Given the description of an element on the screen output the (x, y) to click on. 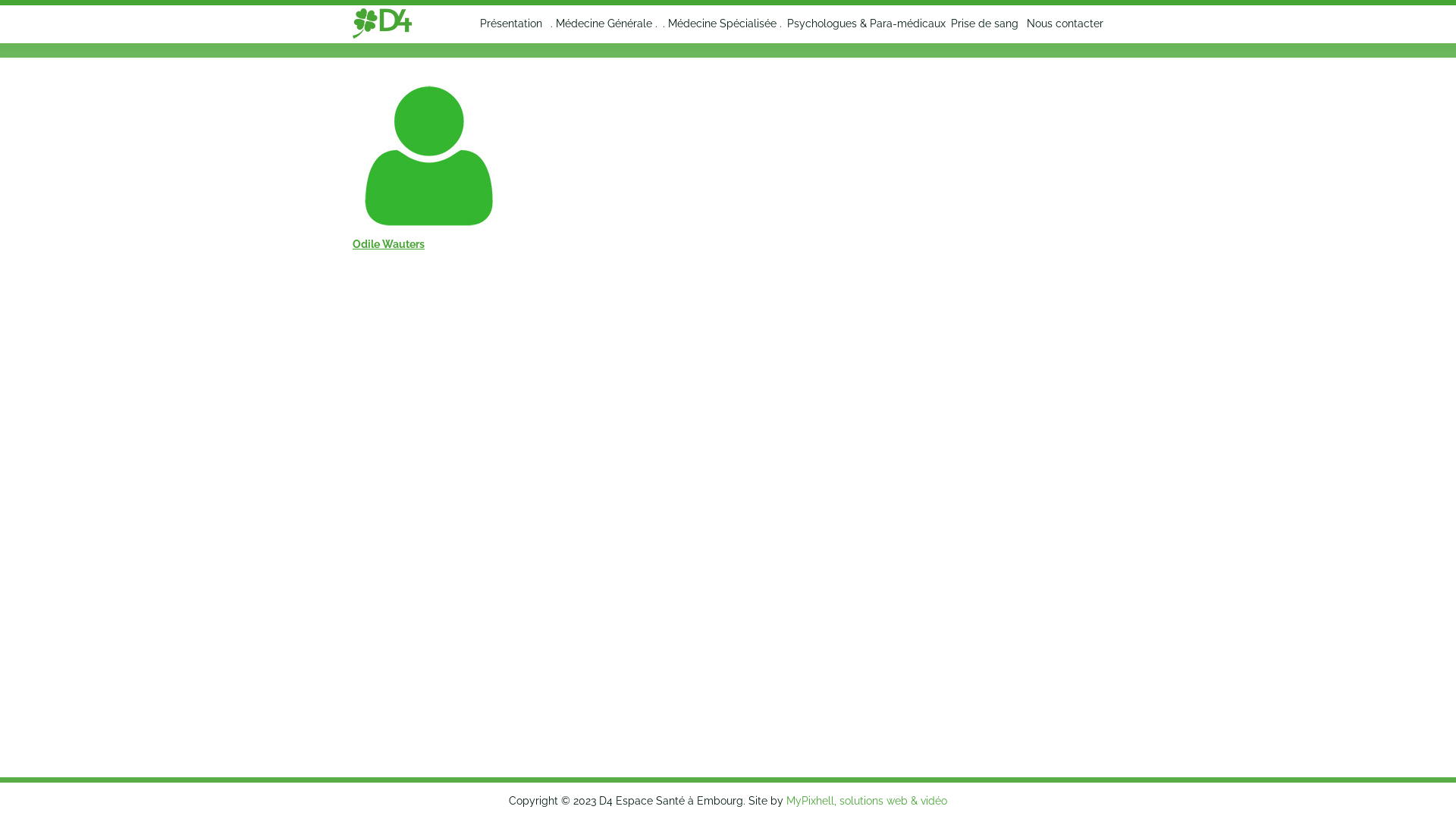
Odile Wauters Element type: text (428, 200)
Nous contacter Element type: text (1062, 24)
Prise de sang Element type: text (981, 24)
